Given the description of an element on the screen output the (x, y) to click on. 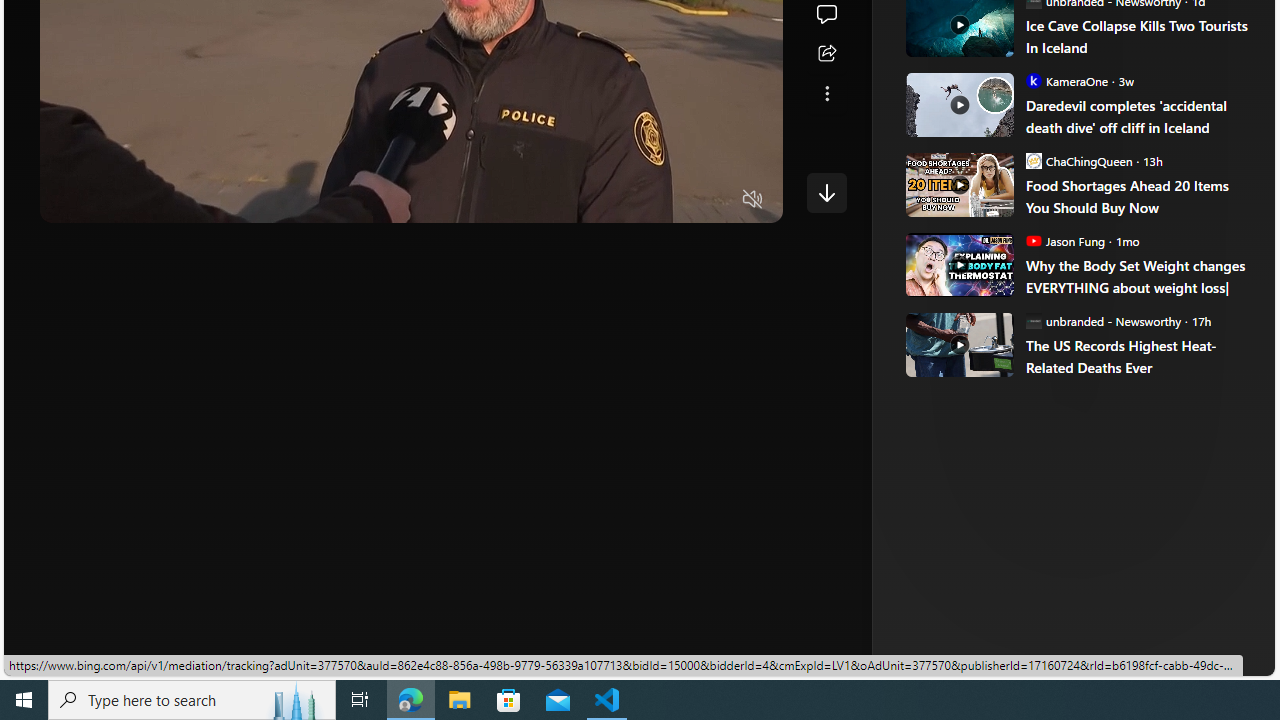
Ad (963, 337)
unbranded - Newsworthy unbranded - Newsworthy (1103, 320)
The US Records Highest Heat-Related Deaths Ever (958, 344)
Fullscreen (714, 200)
ChaChingQueen (1033, 160)
The US Records Highest Heat-Related Deaths Ever (1136, 356)
